Given the description of an element on the screen output the (x, y) to click on. 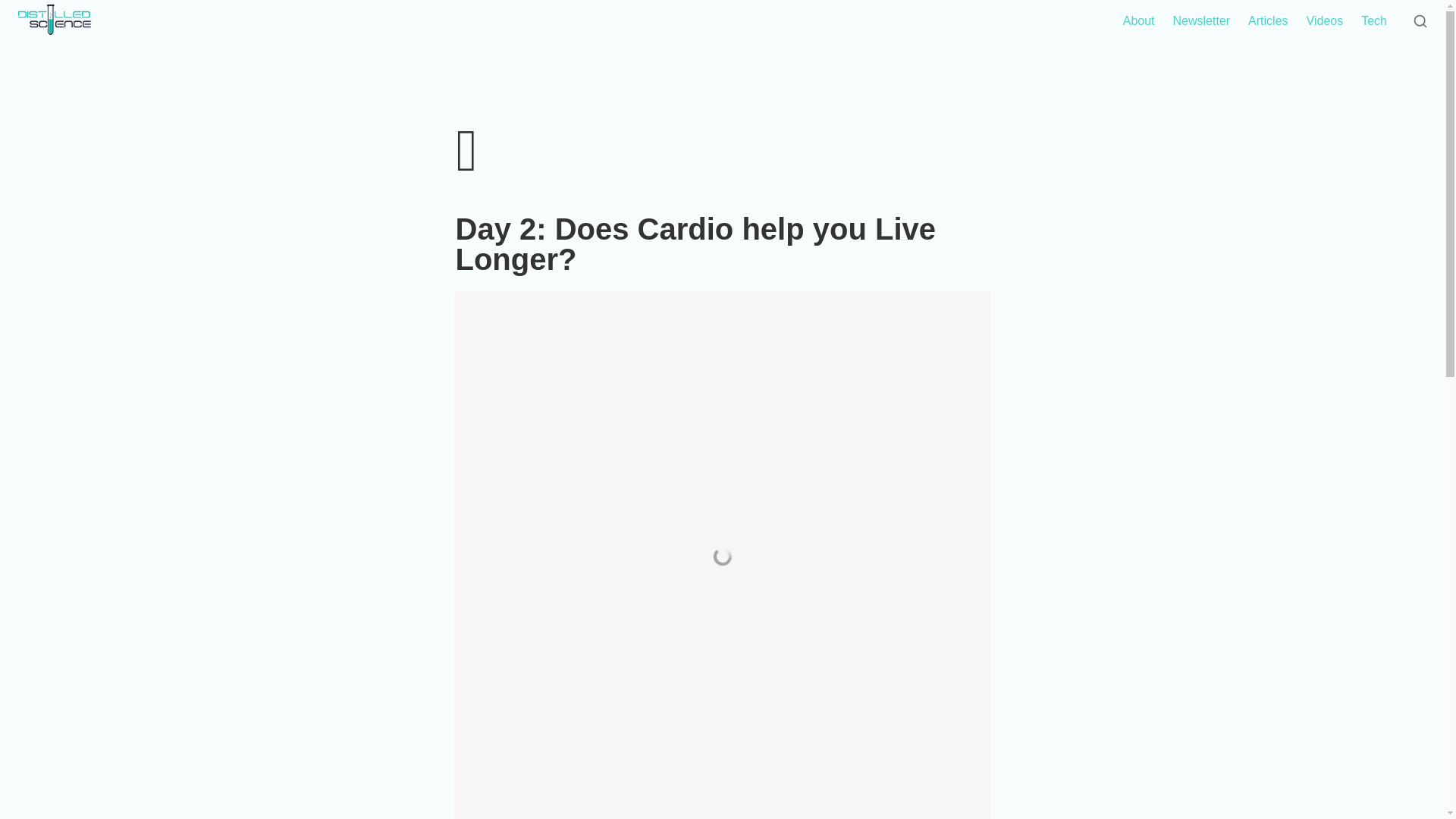
Newsletter (1201, 21)
Videos (1324, 21)
Tech (1374, 21)
About (1138, 21)
Articles (1268, 21)
